Given the description of an element on the screen output the (x, y) to click on. 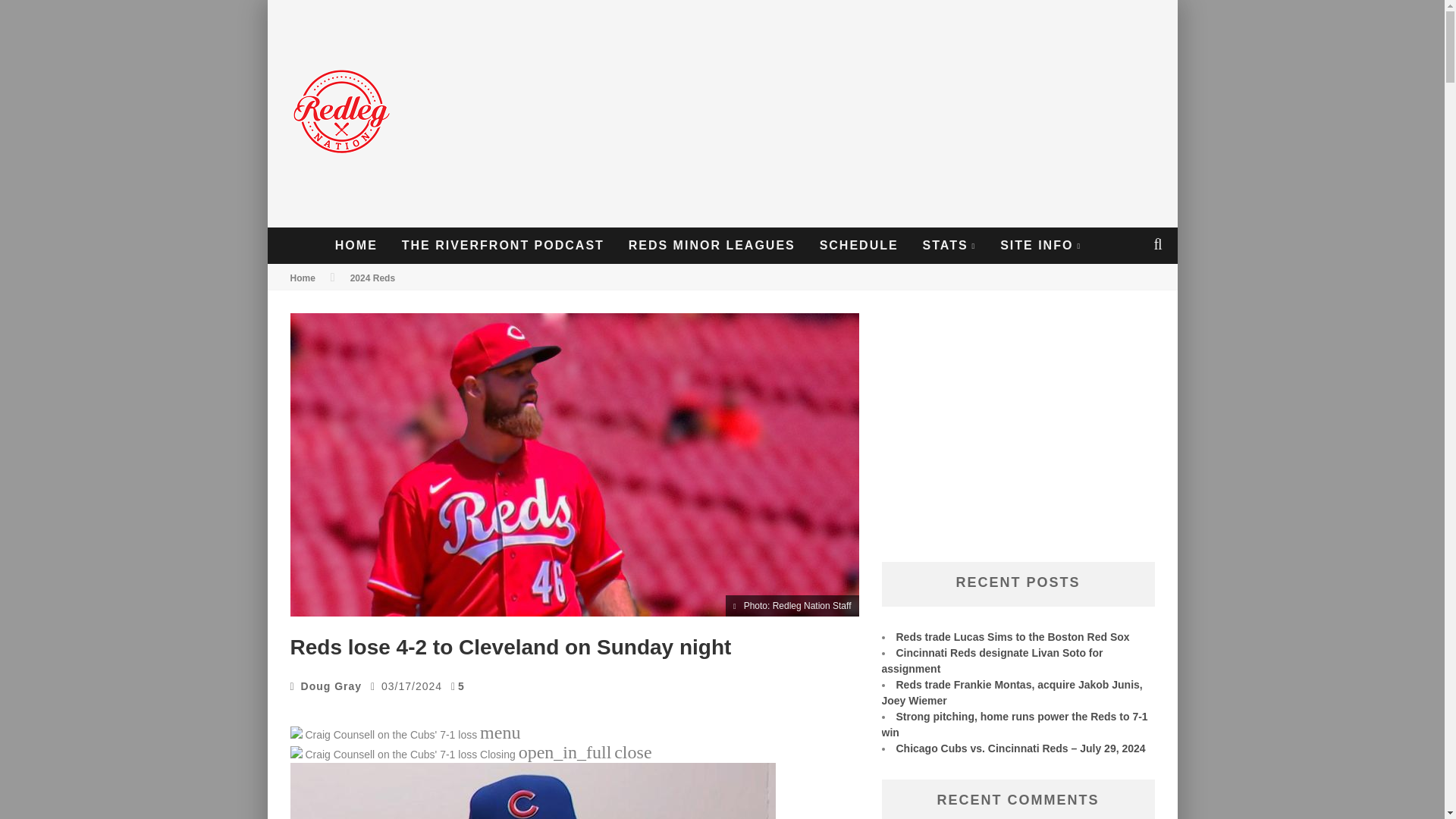
REDS MINOR LEAGUES (711, 245)
THE RIVERFRONT PODCAST (502, 245)
HOME (355, 245)
Advertisement (893, 113)
View all posts in 2024 Reds (372, 277)
SITE INFO (1040, 245)
Home (301, 277)
STATS (949, 245)
SCHEDULE (859, 245)
Doug Gray (331, 686)
2024 Reds (372, 277)
Advertisement (1017, 439)
